Given the description of an element on the screen output the (x, y) to click on. 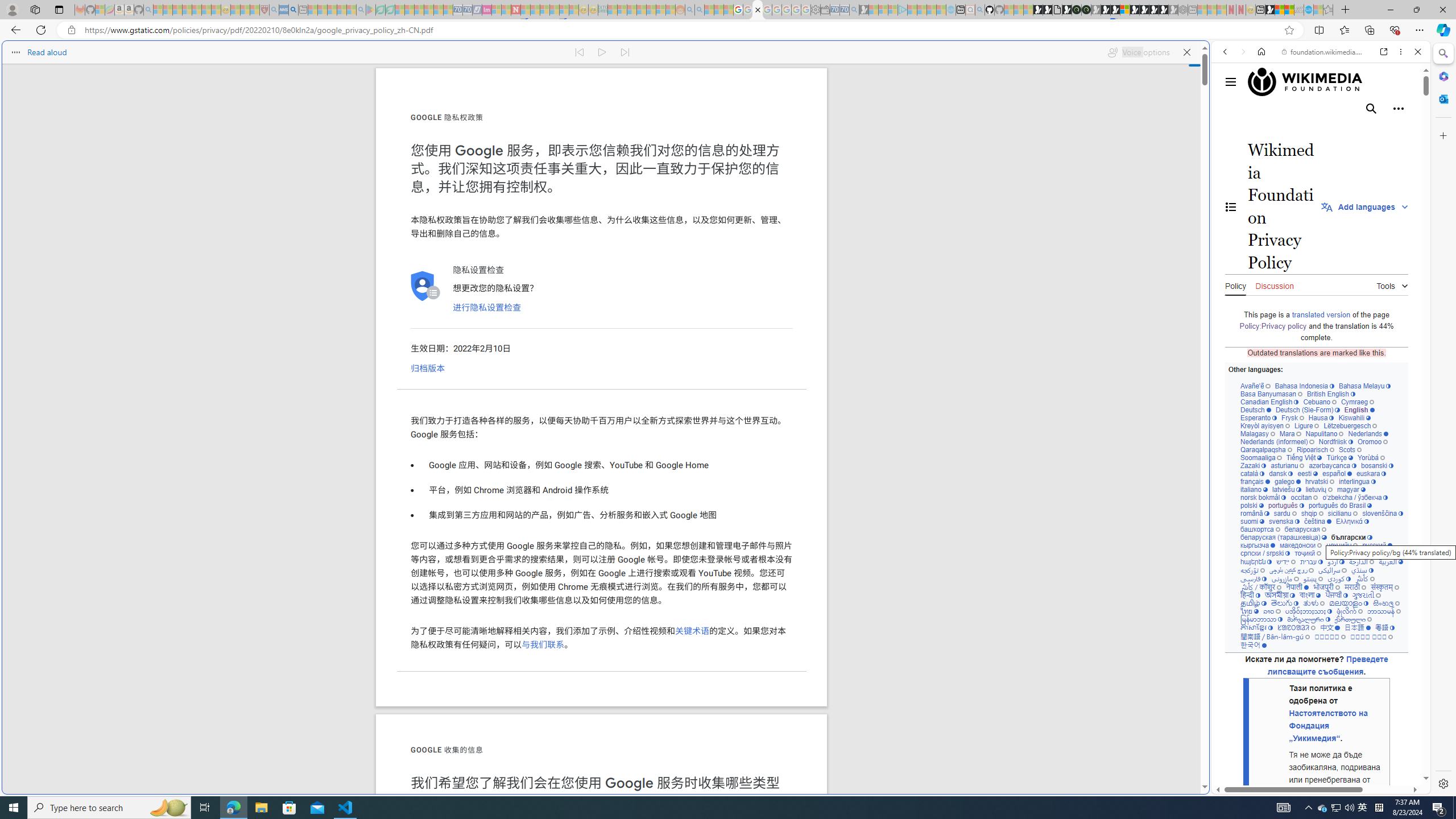
Frysk (1292, 417)
Hausa (1320, 417)
Deutsch (1255, 409)
Cymraeg (1357, 401)
Canadian English (1269, 401)
